Given the description of an element on the screen output the (x, y) to click on. 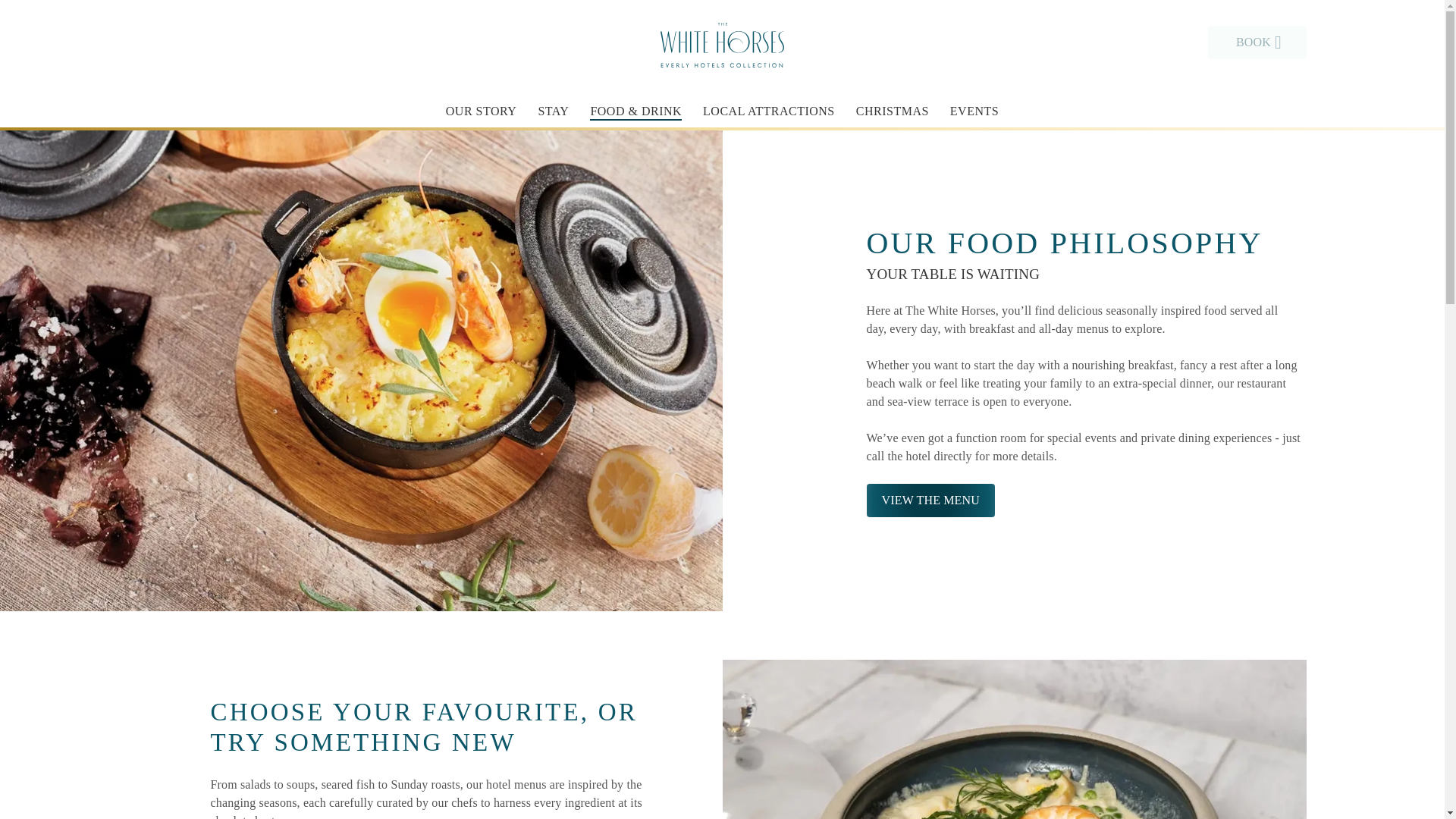
CHRISTMAS (892, 111)
VIEW THE MENU (930, 500)
STAY (553, 111)
EVENTS (974, 111)
LOCAL ATTRACTIONS (768, 111)
BOOK (1256, 41)
Return to homepage (722, 41)
OUR STORY (480, 111)
